Given the description of an element on the screen output the (x, y) to click on. 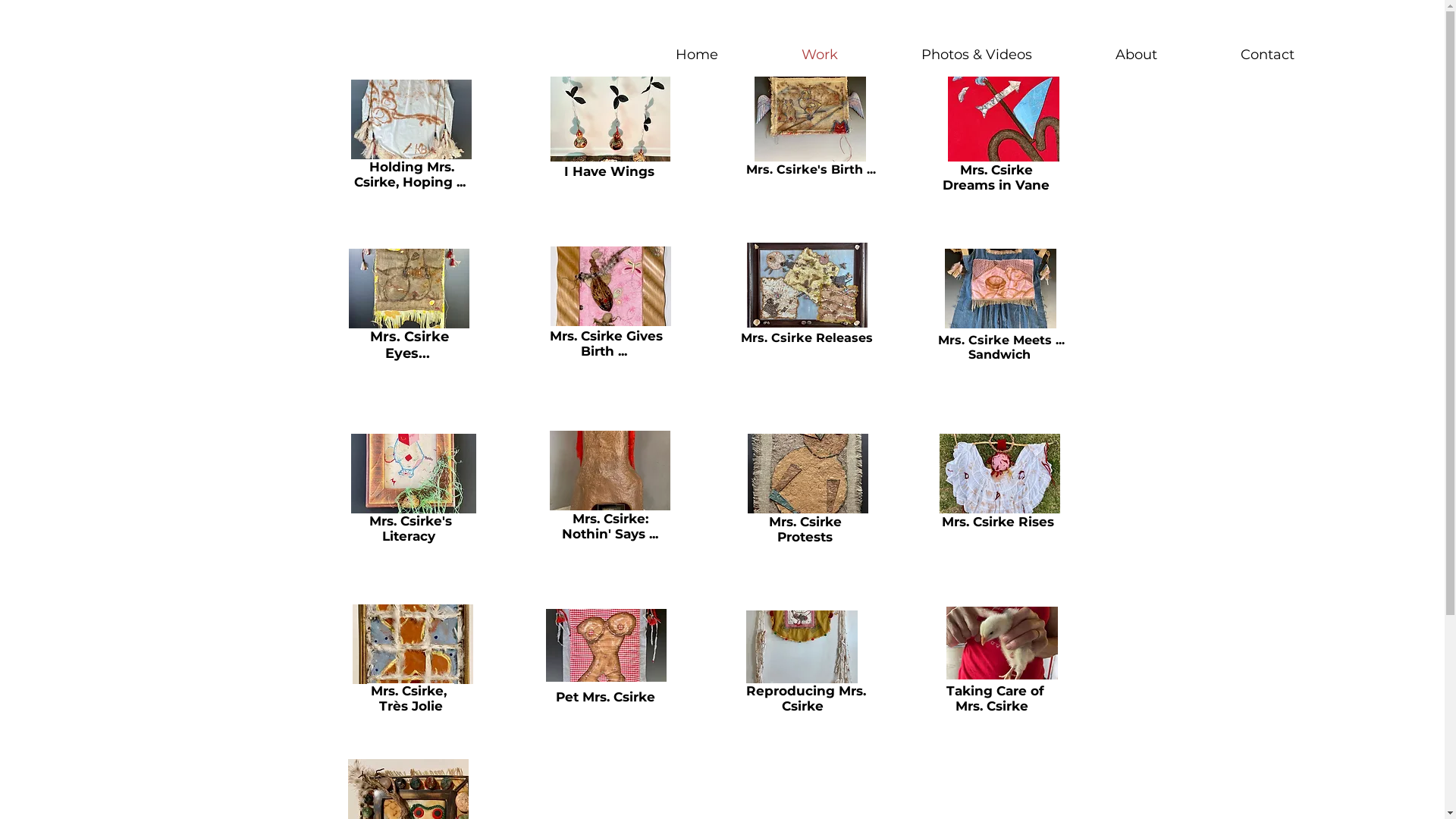
Home Element type: text (696, 54)
Work Element type: text (819, 54)
Contact Element type: text (1267, 54)
Photos & Videos Element type: text (976, 54)
About Element type: text (1135, 54)
